Given the description of an element on the screen output the (x, y) to click on. 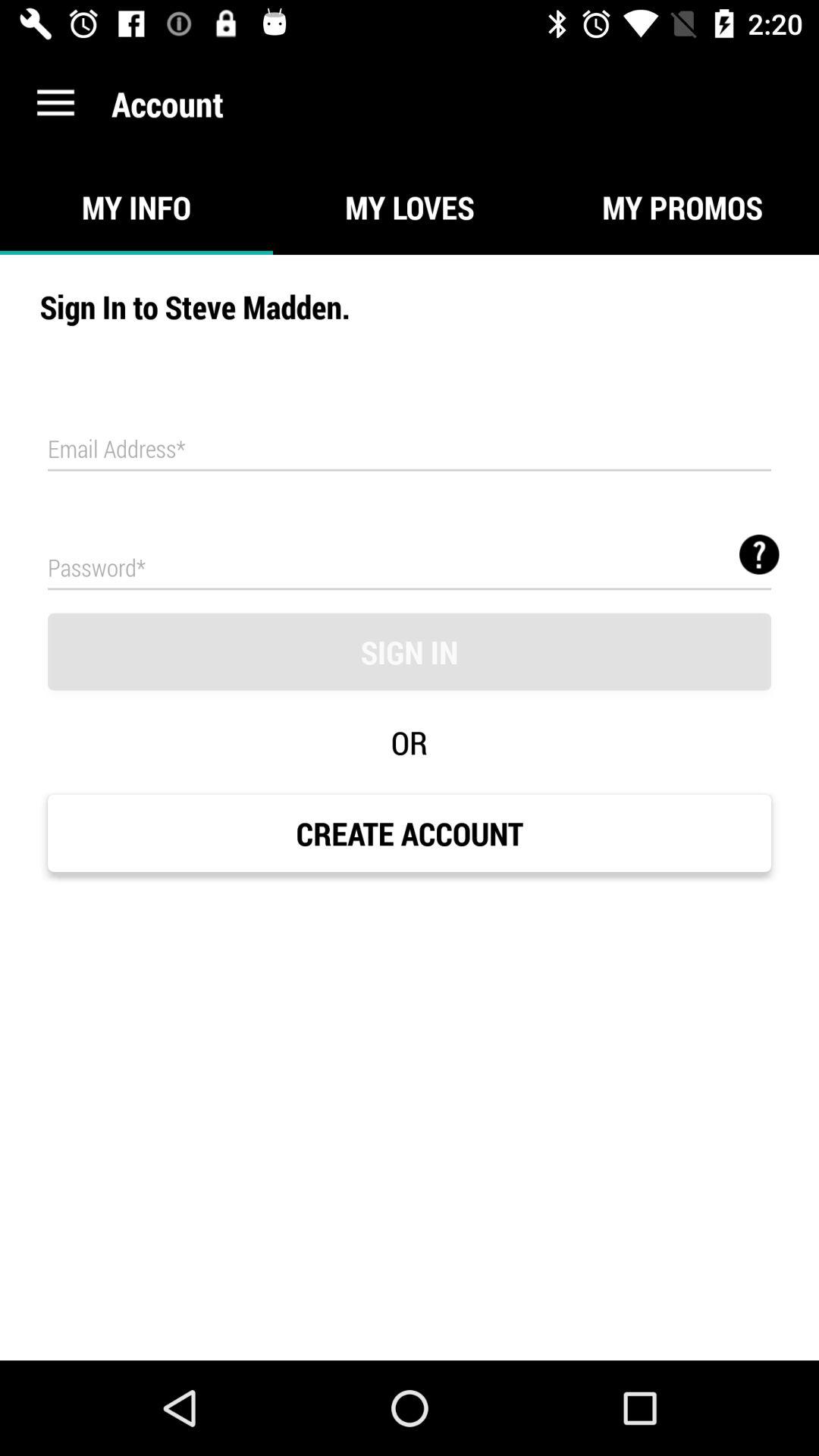
press item above the sign in (409, 566)
